Given the description of an element on the screen output the (x, y) to click on. 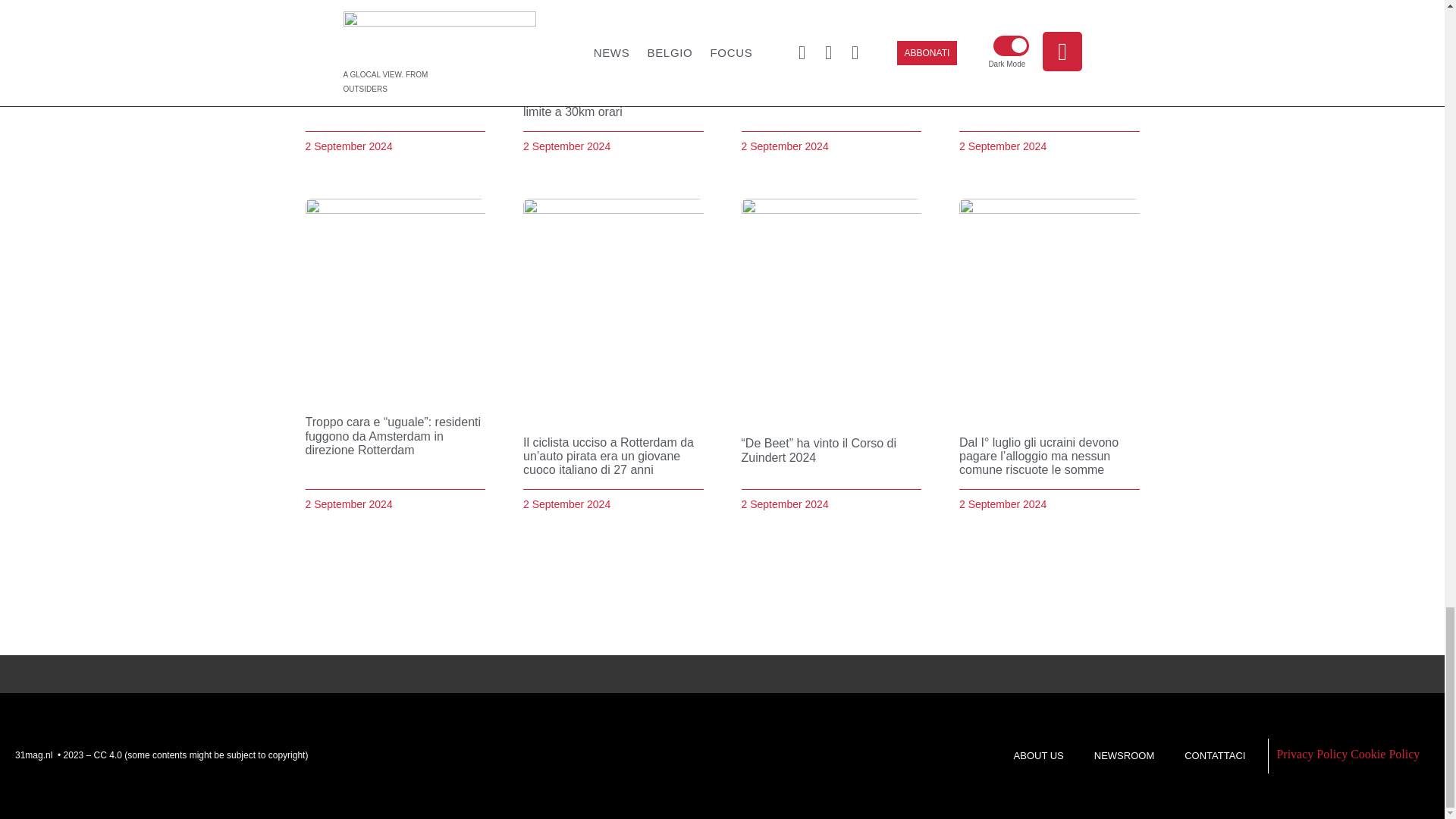
Cookie Policy  (1385, 753)
Privacy Policy  (1312, 753)
